Given the description of an element on the screen output the (x, y) to click on. 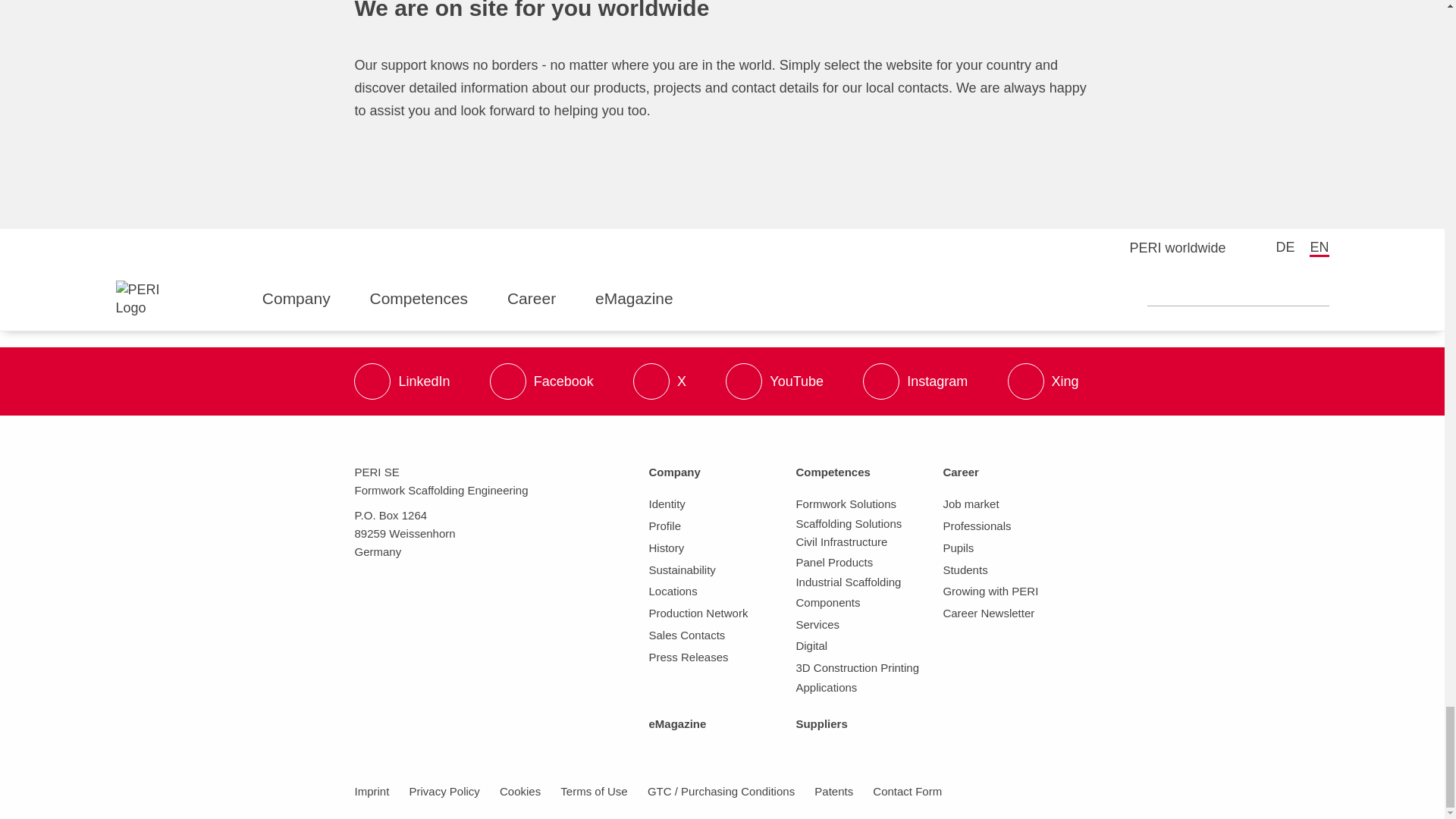
X (659, 381)
Xing (1042, 381)
Instagram (915, 381)
PERI worldwide (1163, 248)
eMagazine (643, 298)
Career (539, 298)
DE (1284, 246)
YouTube (774, 381)
LinkedIn (401, 381)
EN (1317, 248)
